Given the description of an element on the screen output the (x, y) to click on. 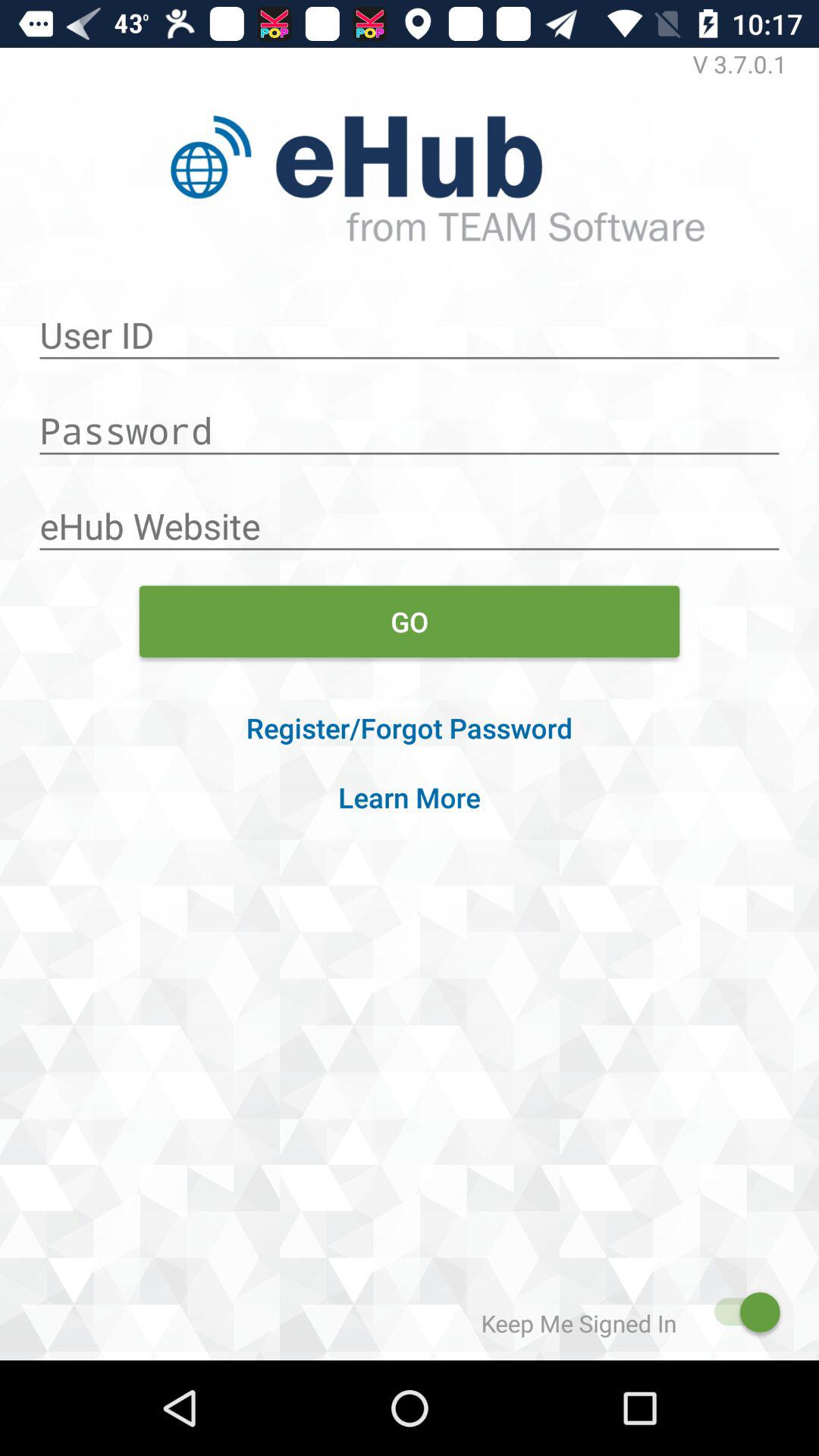
password space (409, 422)
